Given the description of an element on the screen output the (x, y) to click on. 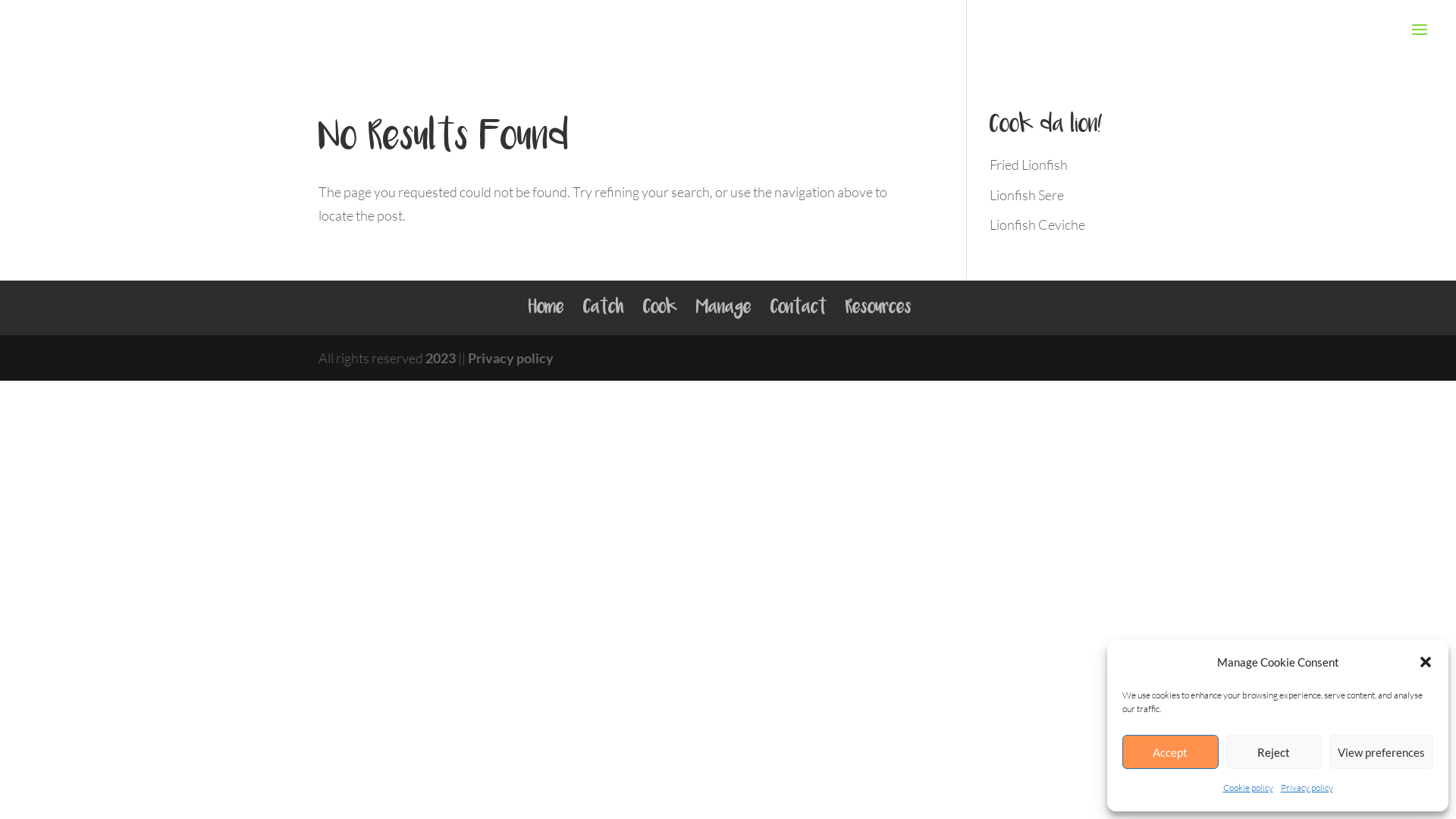
Cookie policy Element type: text (1247, 788)
Resources Element type: text (877, 307)
Privacy policy Element type: text (1306, 788)
Manage Element type: text (723, 307)
Reject Element type: text (1273, 751)
Contact Element type: text (798, 307)
2023 Element type: text (440, 357)
Home Element type: text (545, 307)
Cook Element type: text (660, 307)
Lionfish Ceviche Element type: text (1037, 224)
Catch Element type: text (602, 307)
Fried Lionfish Element type: text (1028, 164)
Lionfish Sere Element type: text (1026, 194)
Privacy policy Element type: text (510, 357)
View preferences Element type: text (1381, 751)
Accept Element type: text (1170, 751)
